Given the description of an element on the screen output the (x, y) to click on. 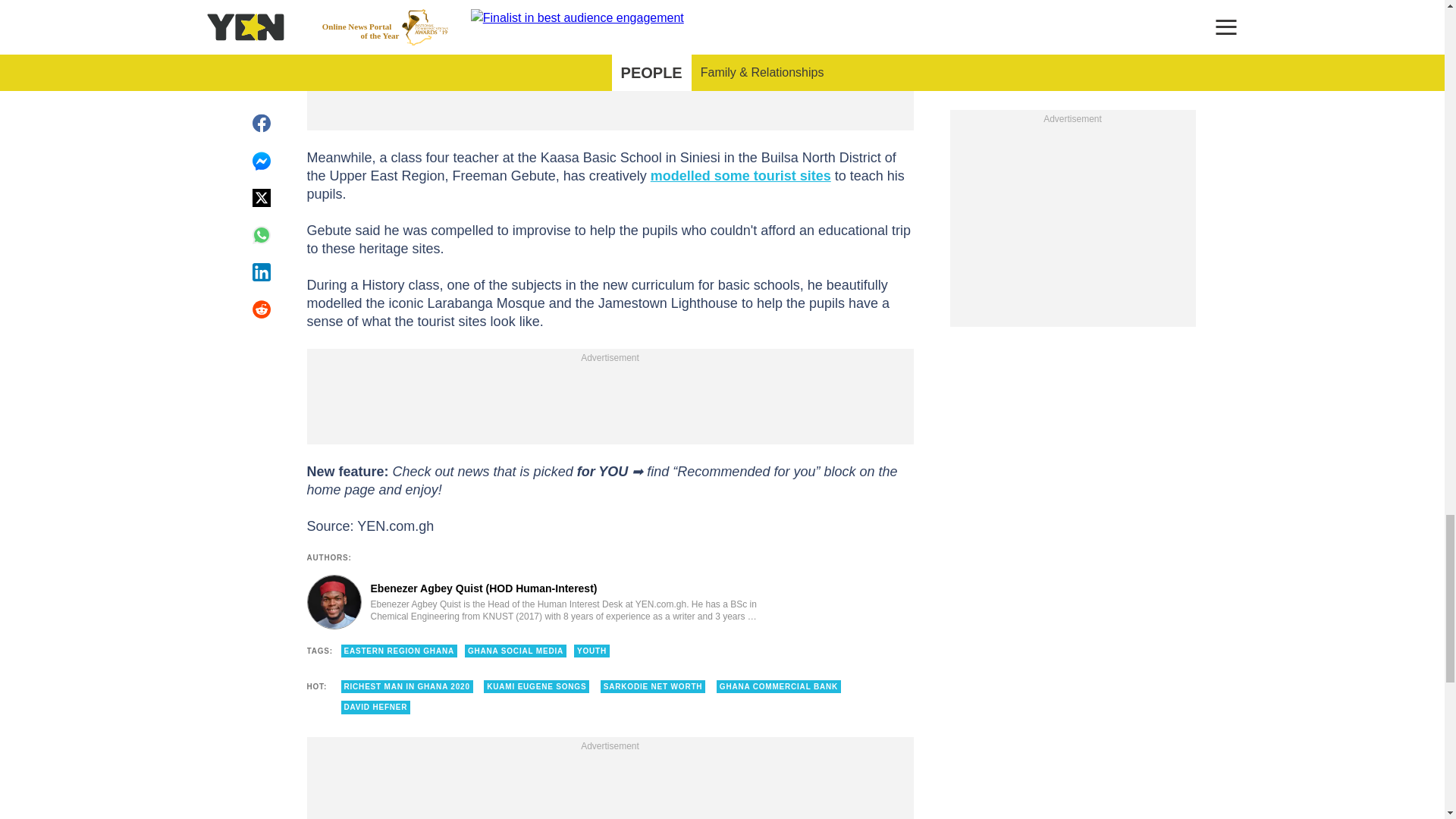
Author page (533, 601)
